Given the description of an element on the screen output the (x, y) to click on. 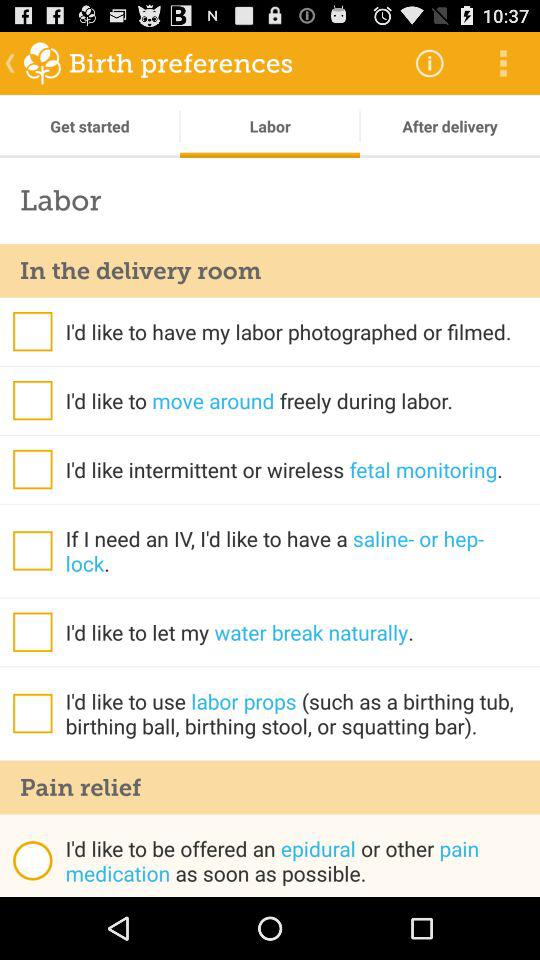
tick or untick option (32, 713)
